Given the description of an element on the screen output the (x, y) to click on. 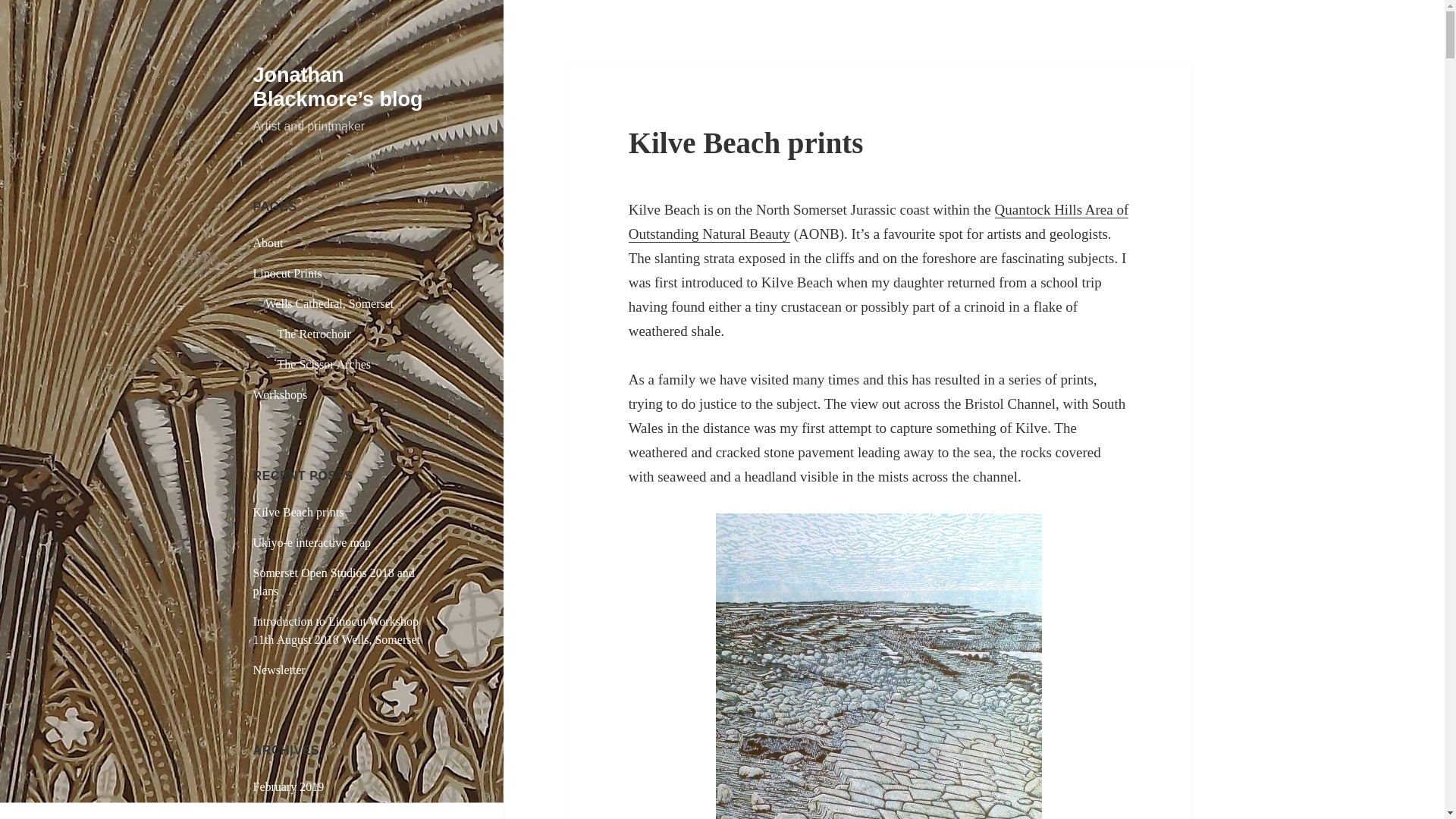
Wells Cathedral, Somerset (329, 303)
January 2019 (285, 814)
The Scissor Arches (324, 364)
Linocut Prints (287, 273)
The Retrochoir (314, 333)
Somerset Open Studios 2018 and plans (333, 581)
About (268, 242)
Newsletter (279, 669)
February 2019 (288, 786)
Ukiyo-e interactive map (312, 542)
Kilve Beach prints (298, 512)
Workshops (280, 394)
Quantock Hills Area of Outstanding Natural Beauty (878, 221)
Kilve Beach prints (745, 142)
